Given the description of an element on the screen output the (x, y) to click on. 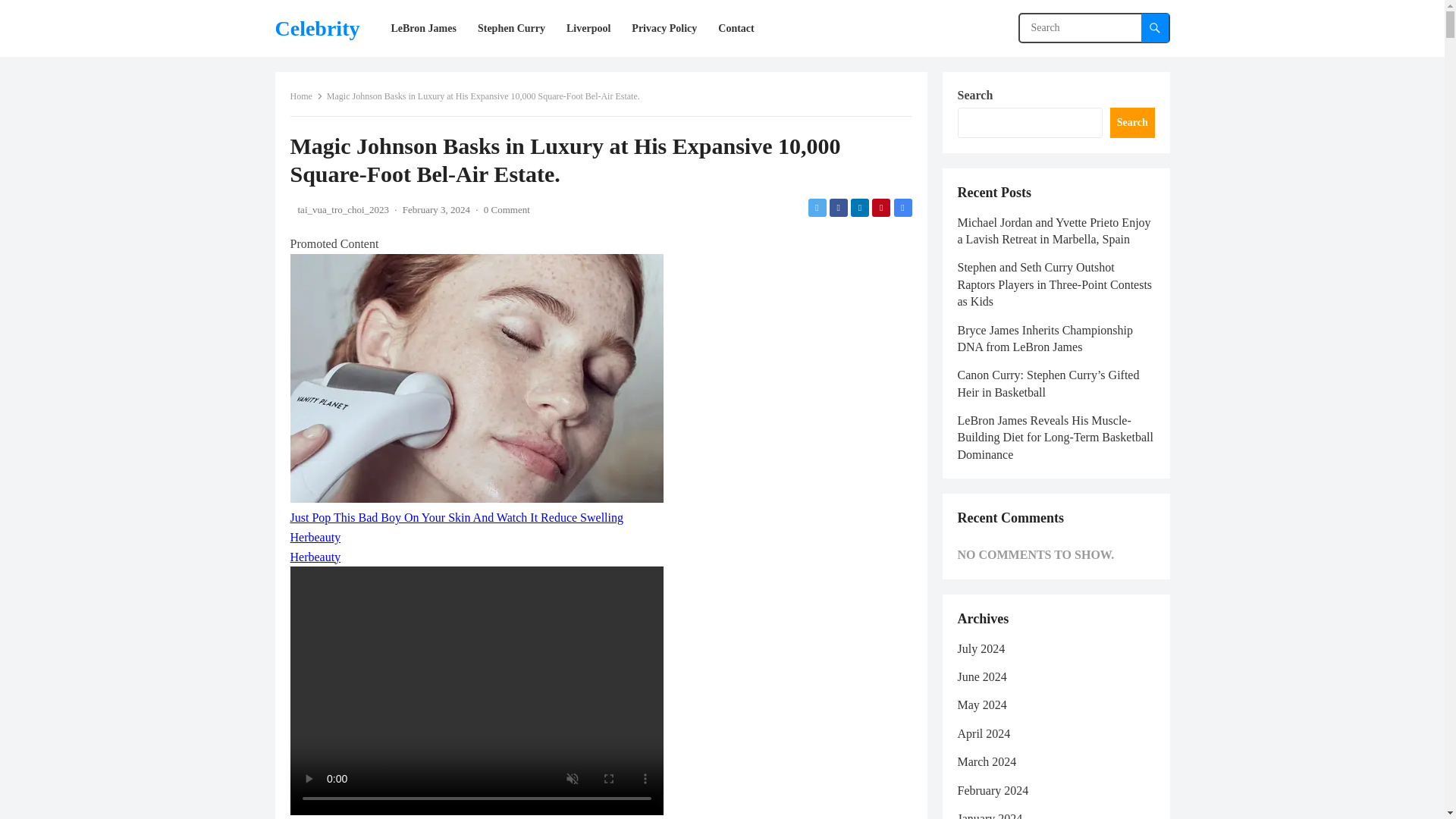
Stephen Curry (511, 28)
Liverpool (588, 28)
July 2024 (980, 648)
Contact (735, 28)
Bryce James Inherits Championship DNA from LeBron James (1044, 337)
May 2024 (981, 704)
January 2024 (989, 815)
March 2024 (986, 761)
Search (1131, 122)
Privacy Policy (664, 28)
LeBron James (422, 28)
February 2024 (991, 789)
Celebrity (317, 28)
